Given the description of an element on the screen output the (x, y) to click on. 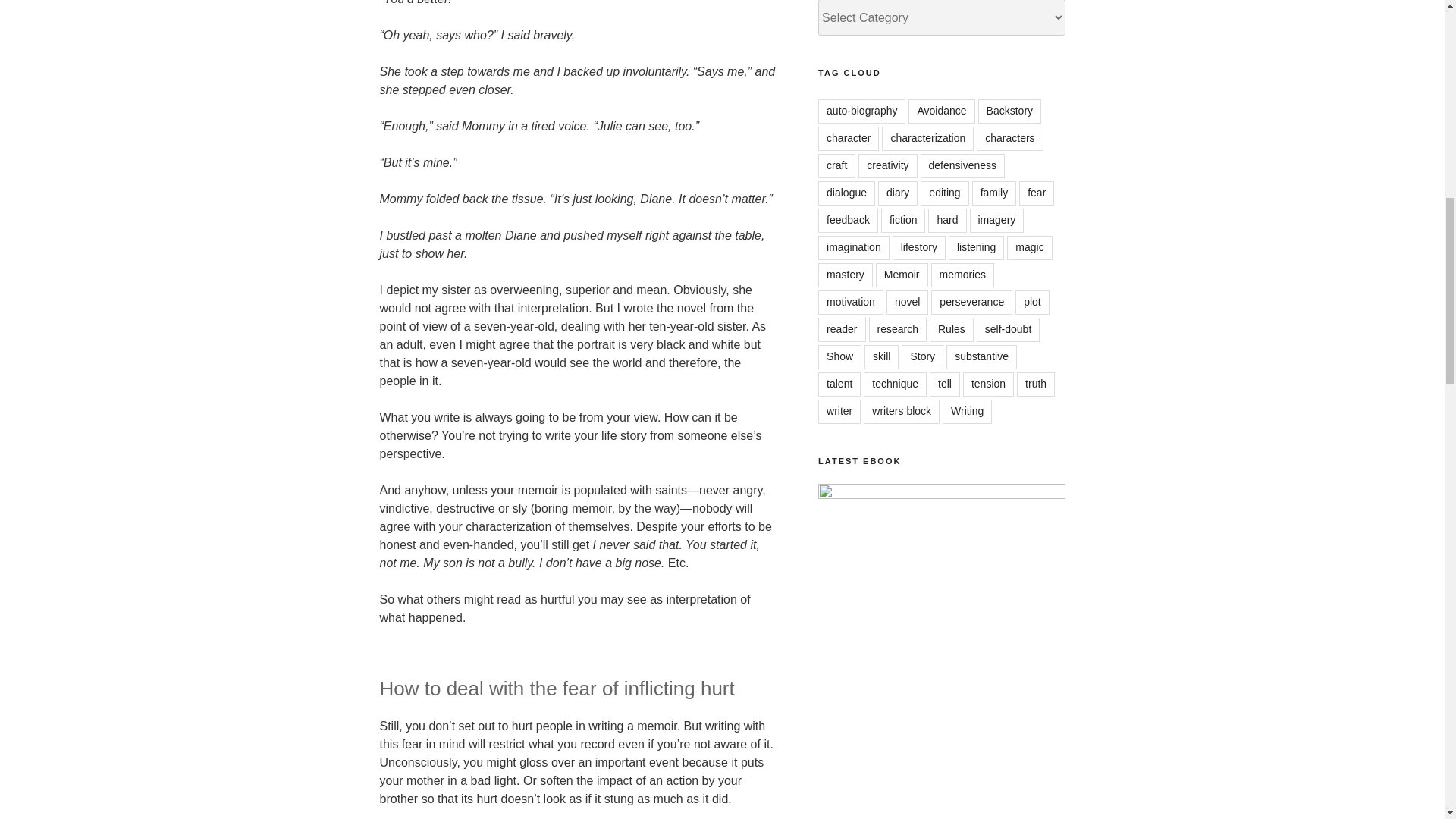
Backstory (1009, 111)
craft (837, 165)
characters (1009, 138)
character (848, 138)
characterization (928, 138)
Avoidance (941, 111)
auto-biography (861, 111)
